Given the description of an element on the screen output the (x, y) to click on. 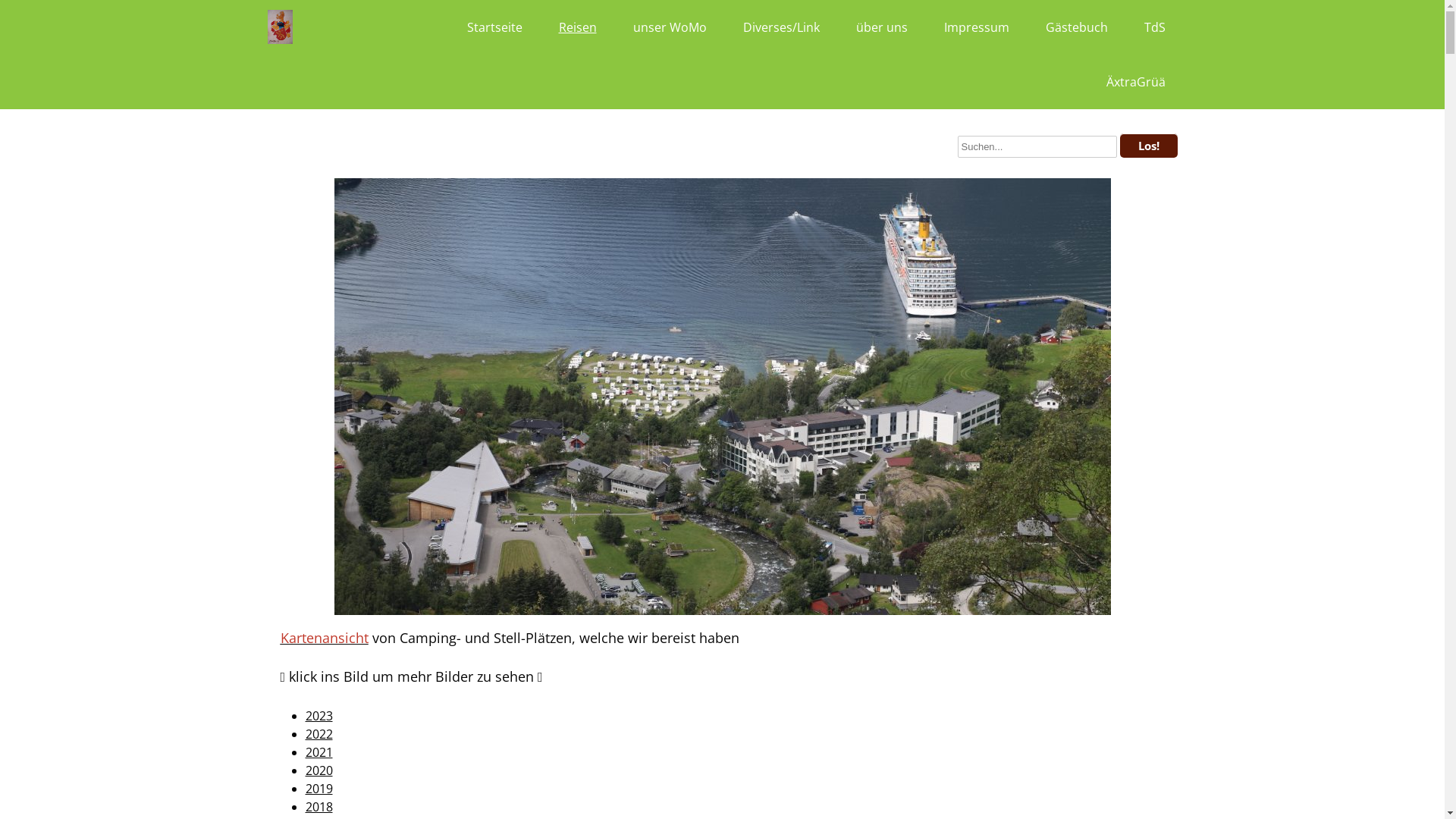
Los! Element type: text (1147, 145)
2019 Element type: text (318, 788)
Impressum Element type: text (975, 27)
Startseite Element type: text (494, 27)
2022 Element type: text (318, 733)
2021 Element type: text (318, 751)
2018 Element type: text (318, 806)
unser WoMo Element type: text (669, 27)
TdS Element type: text (1153, 27)
Reisen Element type: text (577, 27)
Kartenansicht Element type: text (324, 637)
2023 Element type: text (318, 715)
Diverses/Link Element type: text (781, 27)
2020 Element type: text (318, 770)
